Given the description of an element on the screen output the (x, y) to click on. 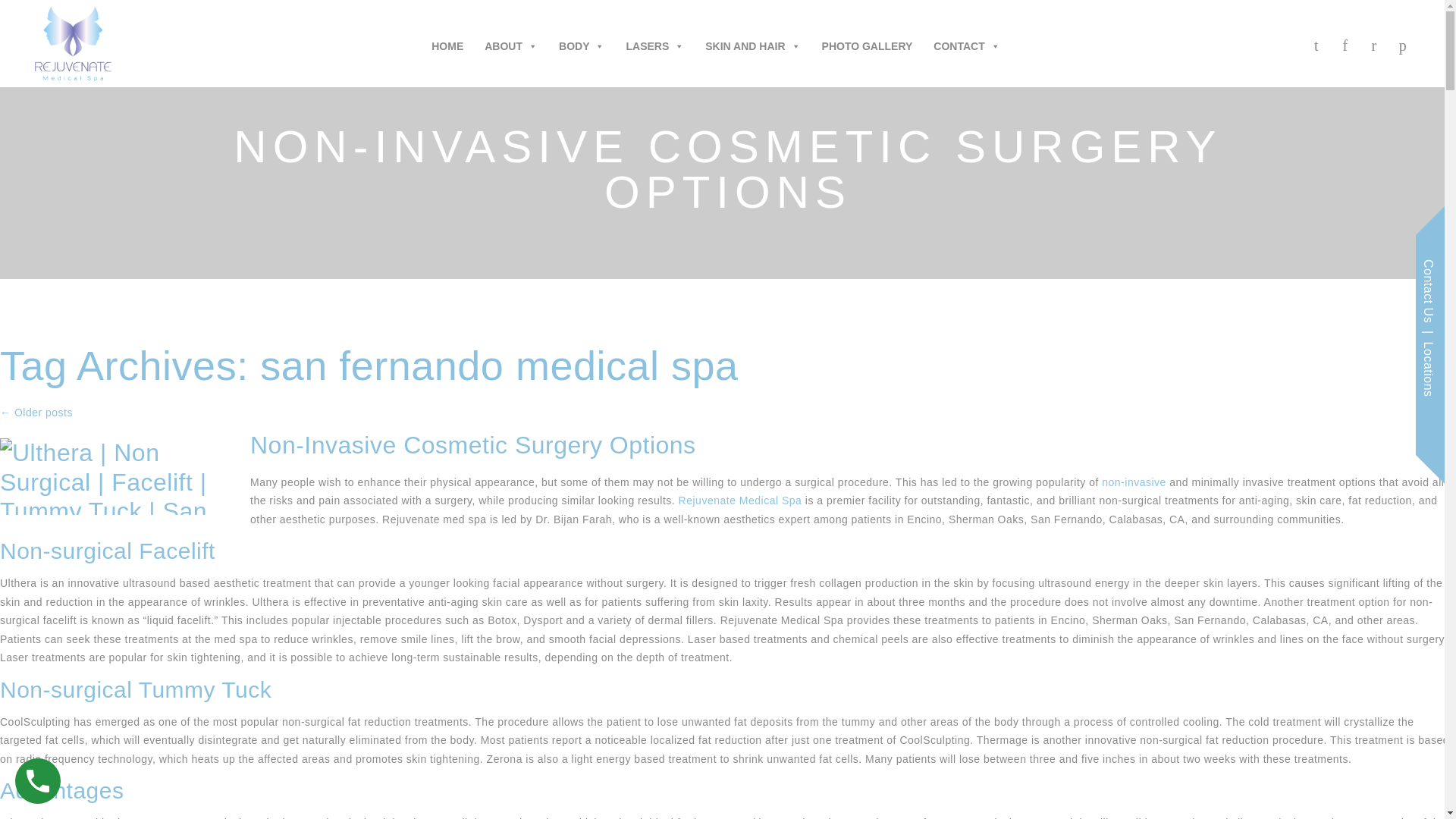
SKIN AND HAIR (751, 40)
ABOUT (510, 40)
LASERS (655, 40)
BODY (581, 40)
HOME (446, 40)
